Given the description of an element on the screen output the (x, y) to click on. 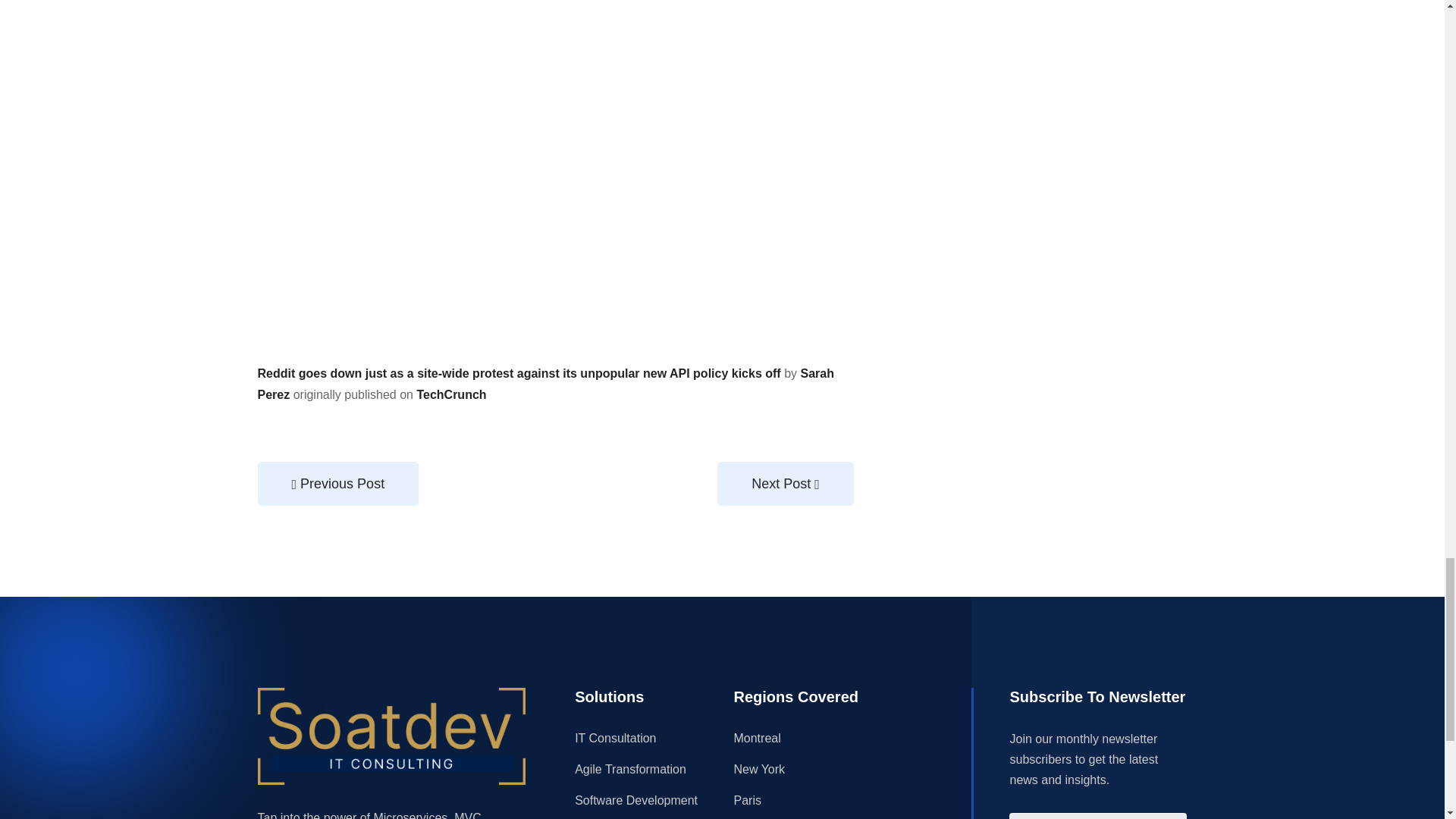
TechCrunch (451, 394)
Previous Post (338, 483)
Sarah Perez (545, 383)
Next Post (785, 483)
